Given the description of an element on the screen output the (x, y) to click on. 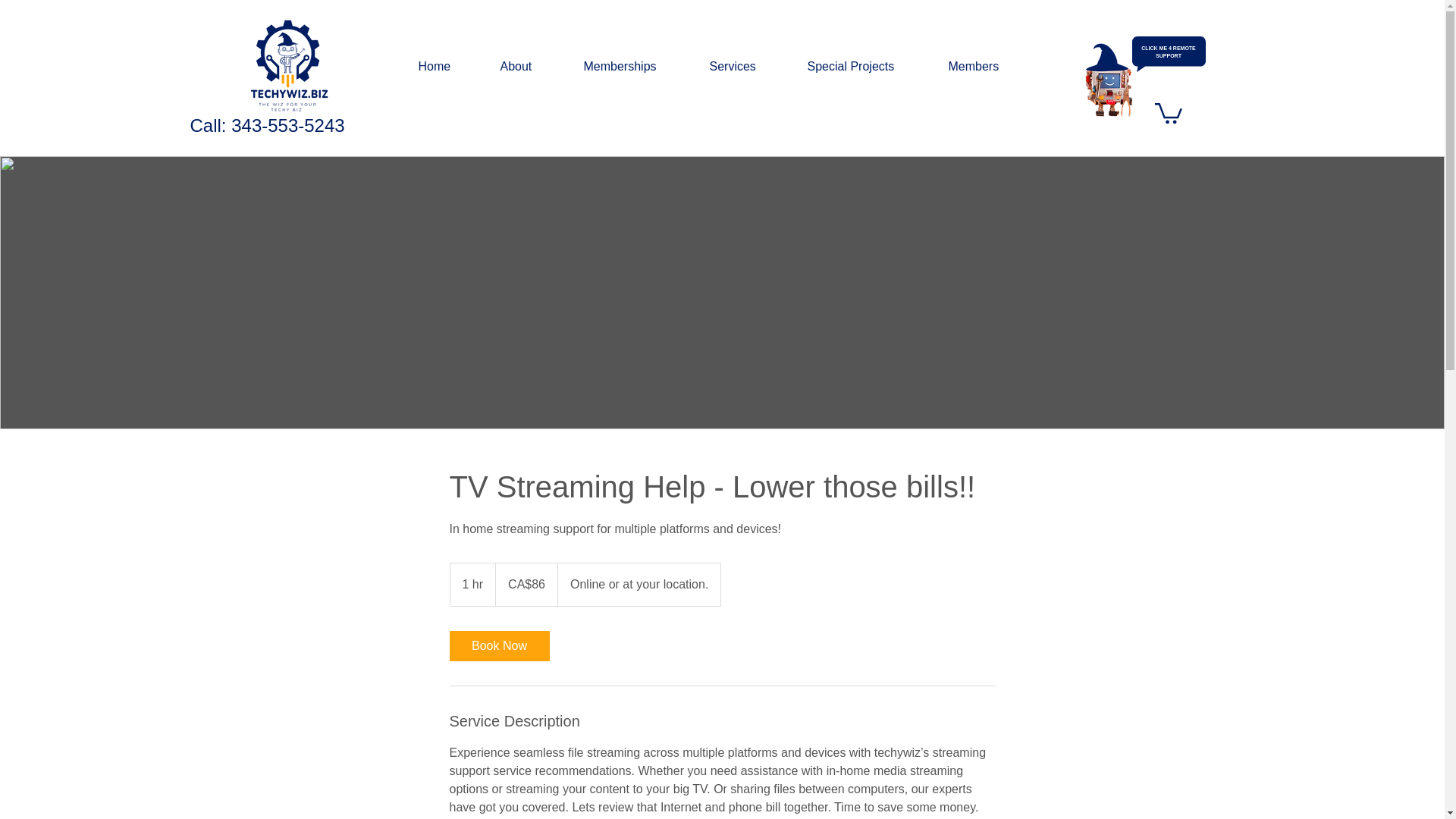
Book Now (498, 645)
Members (987, 66)
Home (446, 66)
